Given the description of an element on the screen output the (x, y) to click on. 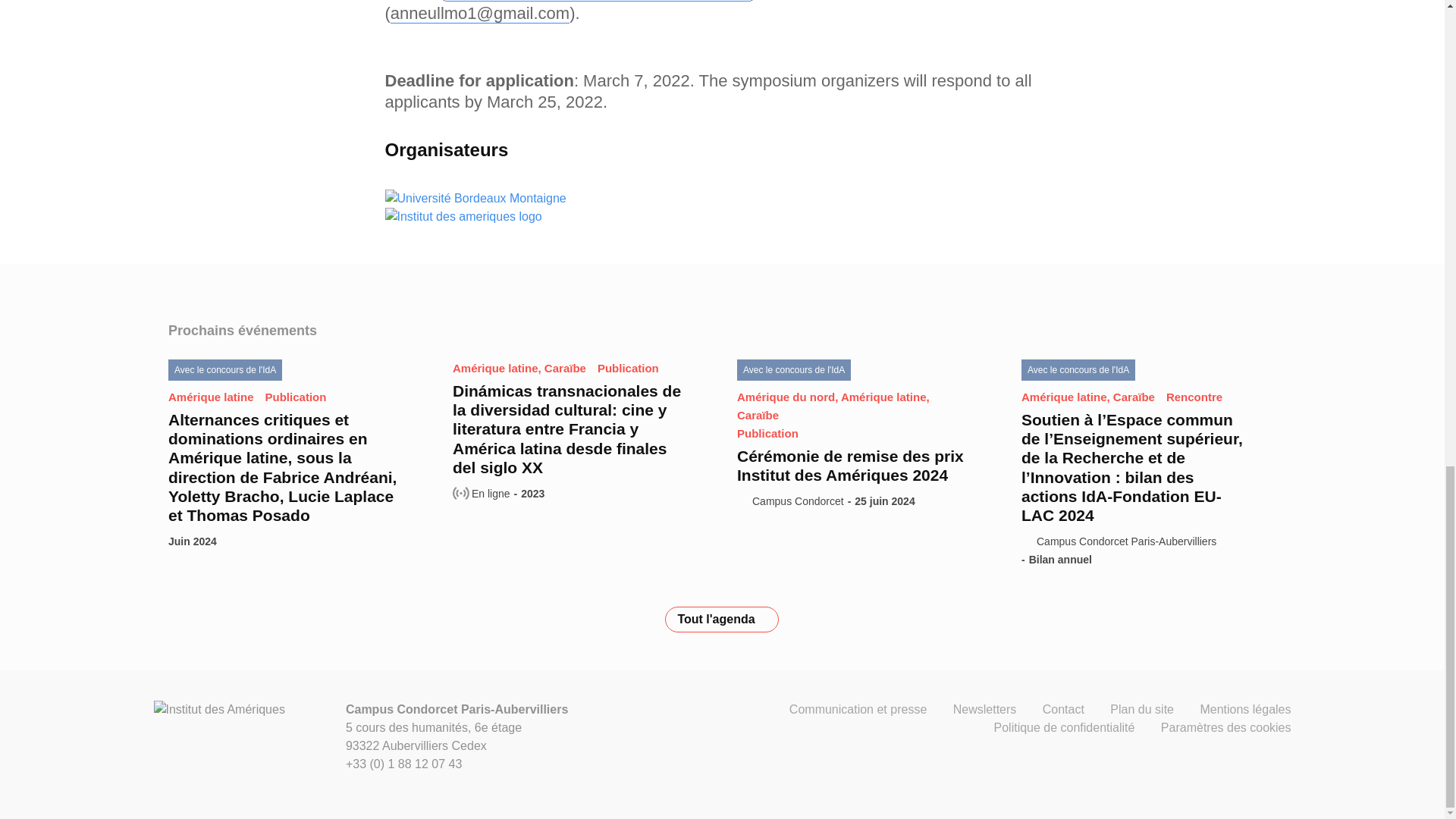
Institut des ameriques logo (463, 217)
